Given the description of an element on the screen output the (x, y) to click on. 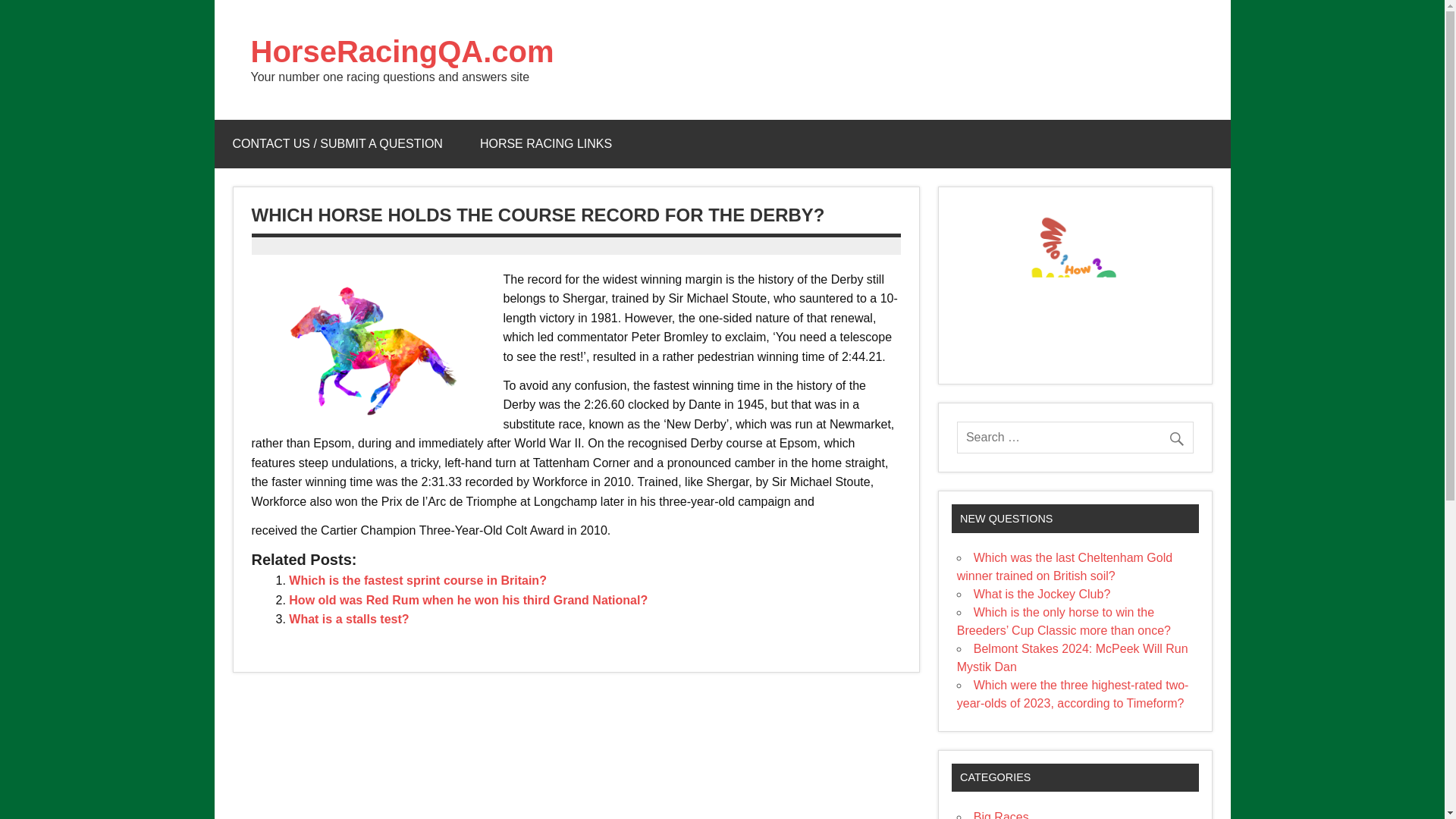
Which horse holds the course record for the Derby?   (365, 350)
What is a stalls test? (348, 618)
How old was Red Rum when he won his third Grand National? (467, 599)
HorseRacingQA.com (401, 51)
What is the Jockey Club? (1042, 594)
Belmont Stakes 2024: McPeek Will Run Mystik Dan (1072, 657)
How old was Red Rum when he won his third Grand National? (467, 599)
What is a stalls test? (348, 618)
HORSE RACING LINKS (545, 143)
Big Races (1001, 814)
Which is the fastest sprint course in Britain? (417, 580)
Which is the fastest sprint course in Britain? (417, 580)
